Given the description of an element on the screen output the (x, y) to click on. 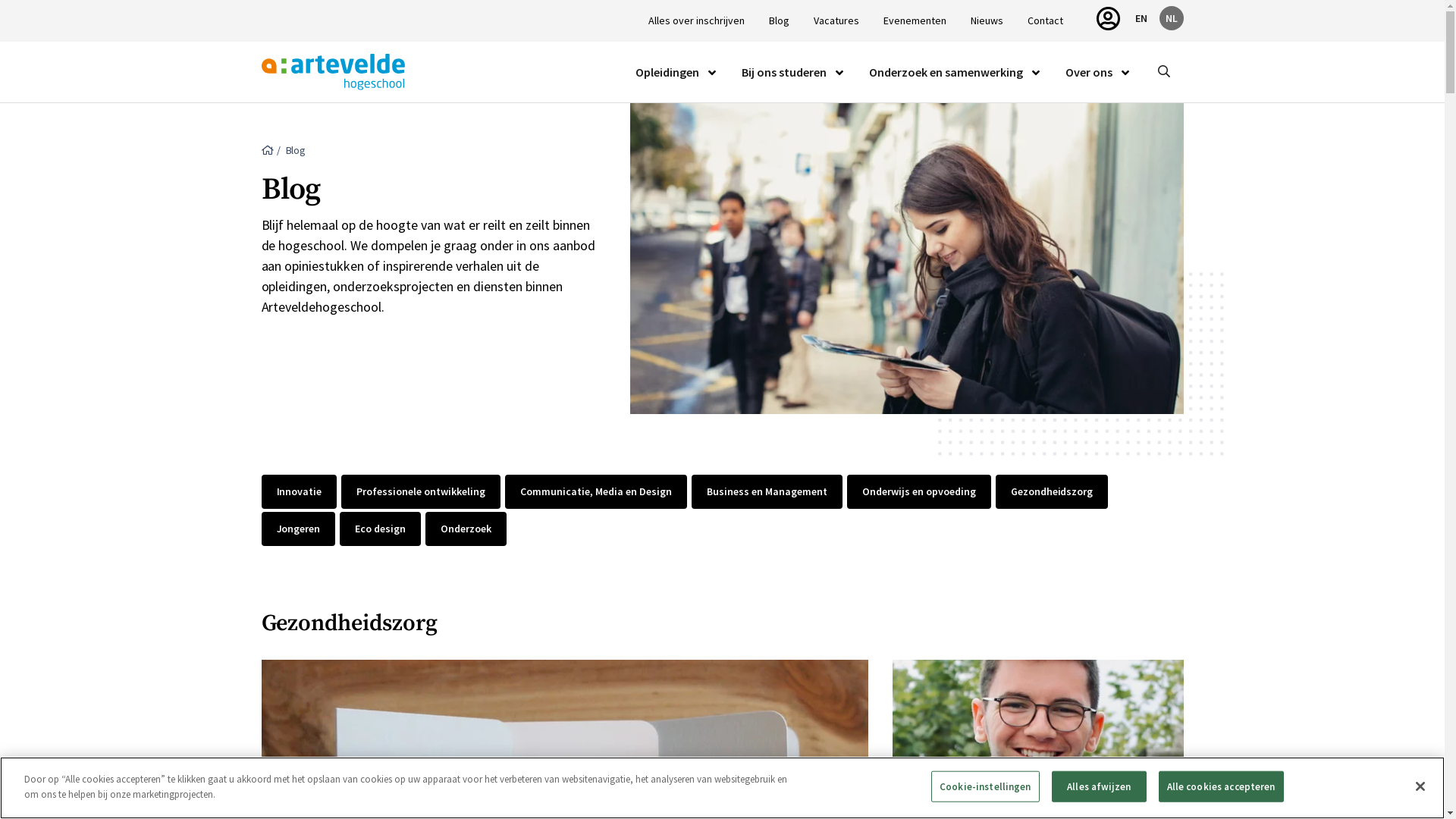
Alle cookies accepteren Element type: text (1220, 787)
Onderzoek Element type: text (465, 528)
Blog Element type: text (778, 20)
Nieuws Element type: text (986, 20)
Contact Element type: text (1044, 20)
Reset Element type: text (1134, 149)
NL Element type: text (1170, 18)
EN Element type: text (1140, 18)
Over ons Element type: text (1087, 71)
Zoeken Element type: text (1162, 71)
Bij ons studeren Element type: text (783, 71)
Onderwijs en opvoeding Element type: text (919, 491)
Onderzoek en samenwerking Element type: text (945, 71)
Jongeren Element type: text (297, 528)
Alles afwijzen Element type: text (1098, 787)
Keuzelijst Element type: text (711, 72)
Innovatie Element type: text (298, 491)
Opleidingen Element type: text (667, 71)
Keuzelijst Element type: text (1124, 72)
Business en Management Element type: text (766, 491)
Home Element type: text (266, 149)
Communicatie, Media en Design Element type: text (596, 491)
Alles over inschrijven Element type: text (695, 20)
Overslaan en naar de inhoud gaan Element type: text (0, 0)
Zoeken Element type: text (1158, 149)
Cookie-instellingen Element type: text (984, 787)
Vacatures Element type: text (835, 20)
Eco design Element type: text (379, 528)
Keuzelijst Element type: text (839, 72)
Keuzelijst Element type: text (1034, 72)
Evenementen Element type: text (913, 20)
Professionele ontwikkeling Element type: text (420, 491)
Gezondheidszorg Element type: text (1051, 491)
